Given the description of an element on the screen output the (x, y) to click on. 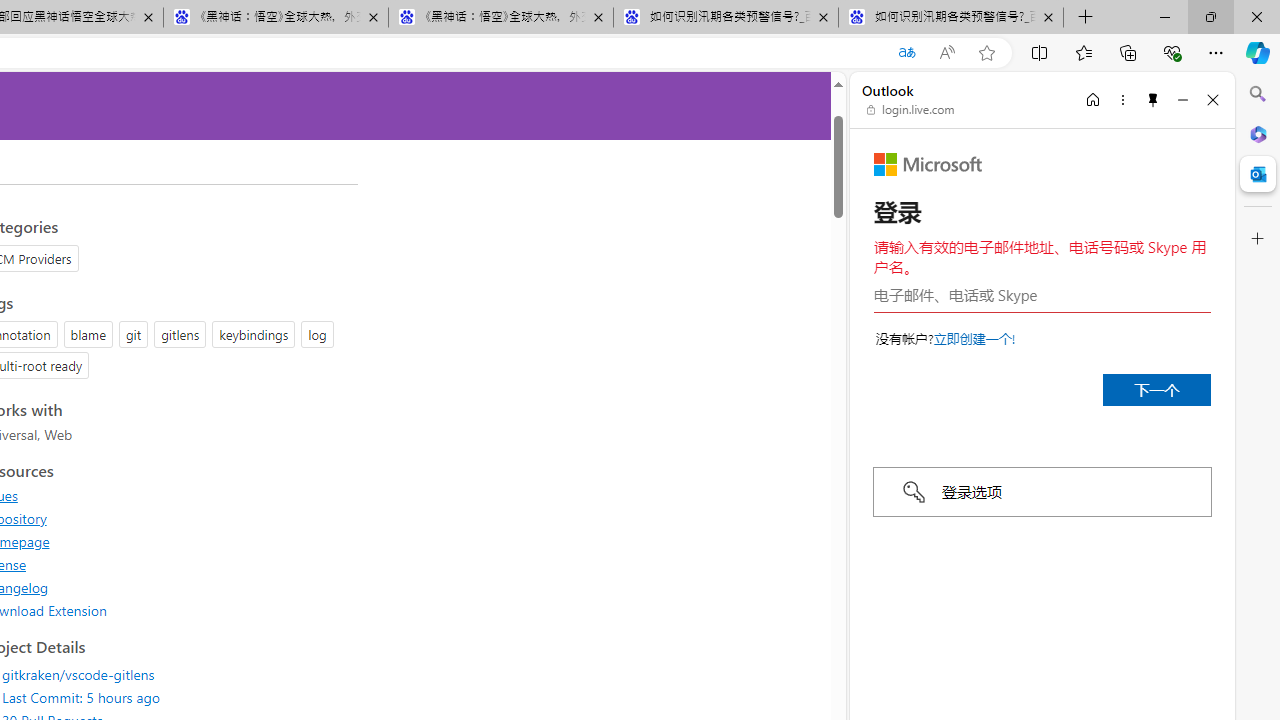
Translated (906, 53)
